Given the description of an element on the screen output the (x, y) to click on. 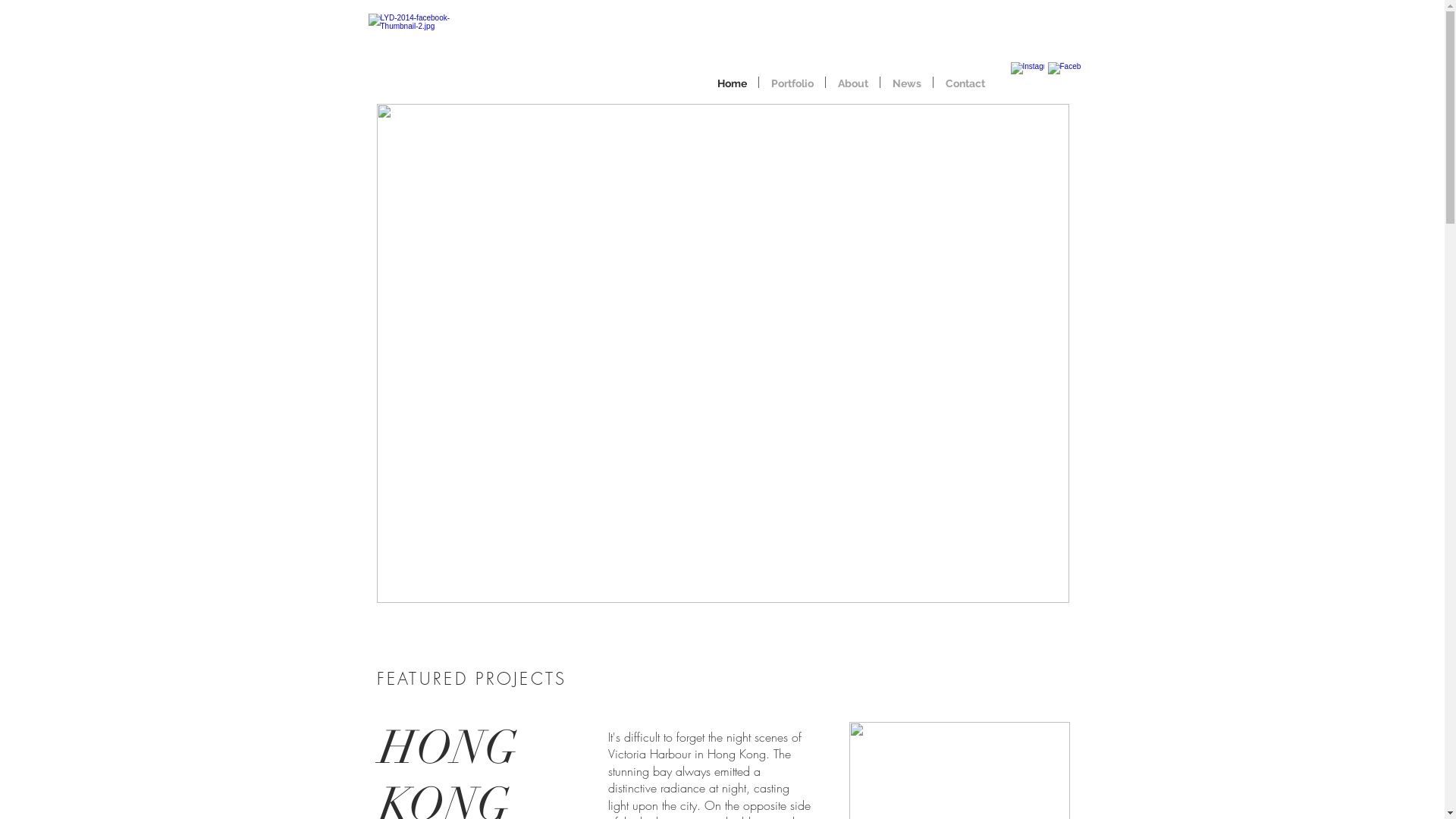
News Element type: text (906, 81)
Contact Element type: text (964, 81)
Click to see more Element type: hover (722, 352)
Home Element type: text (731, 81)
About Element type: text (852, 81)
TWIPLA (Visitor Analytics) Element type: hover (728, 423)
Portfolio Element type: text (792, 81)
